Given the description of an element on the screen output the (x, y) to click on. 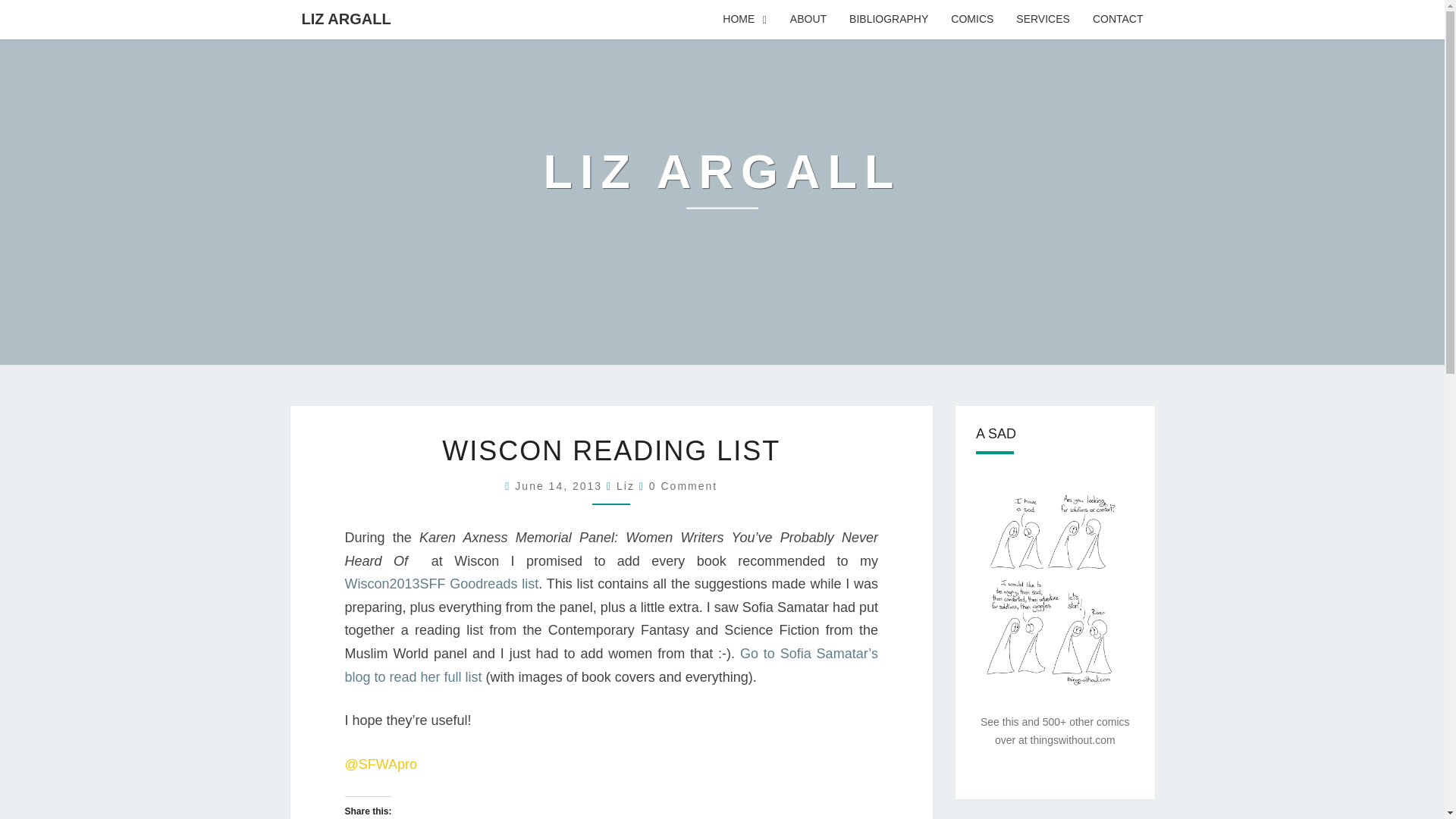
COMICS (971, 19)
4:16 pm (561, 485)
LIZ ARGALL (345, 18)
SERVICES (1042, 19)
Liz (624, 485)
ABOUT (808, 19)
HOME (744, 19)
June 14, 2013 (561, 485)
View all posts by Liz (624, 485)
BIBLIOGRAPHY (888, 19)
